Given the description of an element on the screen output the (x, y) to click on. 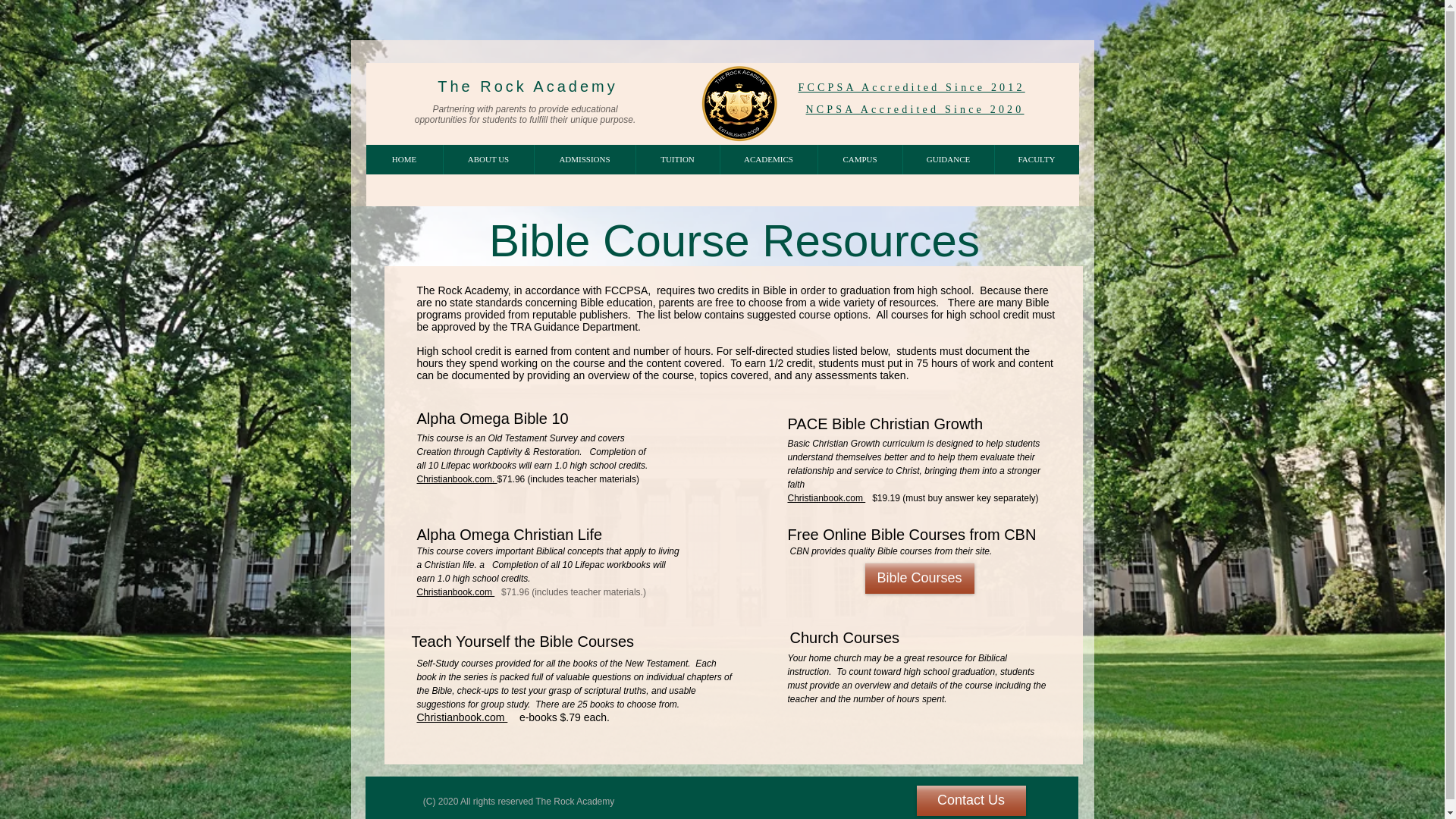
GUIDANCE (948, 159)
Contact Us (970, 800)
CAMPUS (859, 159)
HOME (403, 159)
ADMISSIONS (584, 159)
Christianbook.com  (462, 717)
TUITION (676, 159)
NCPSA Accredited Since 2020 (914, 109)
FACULTY (1035, 159)
Bible Courses (919, 578)
